Given the description of an element on the screen output the (x, y) to click on. 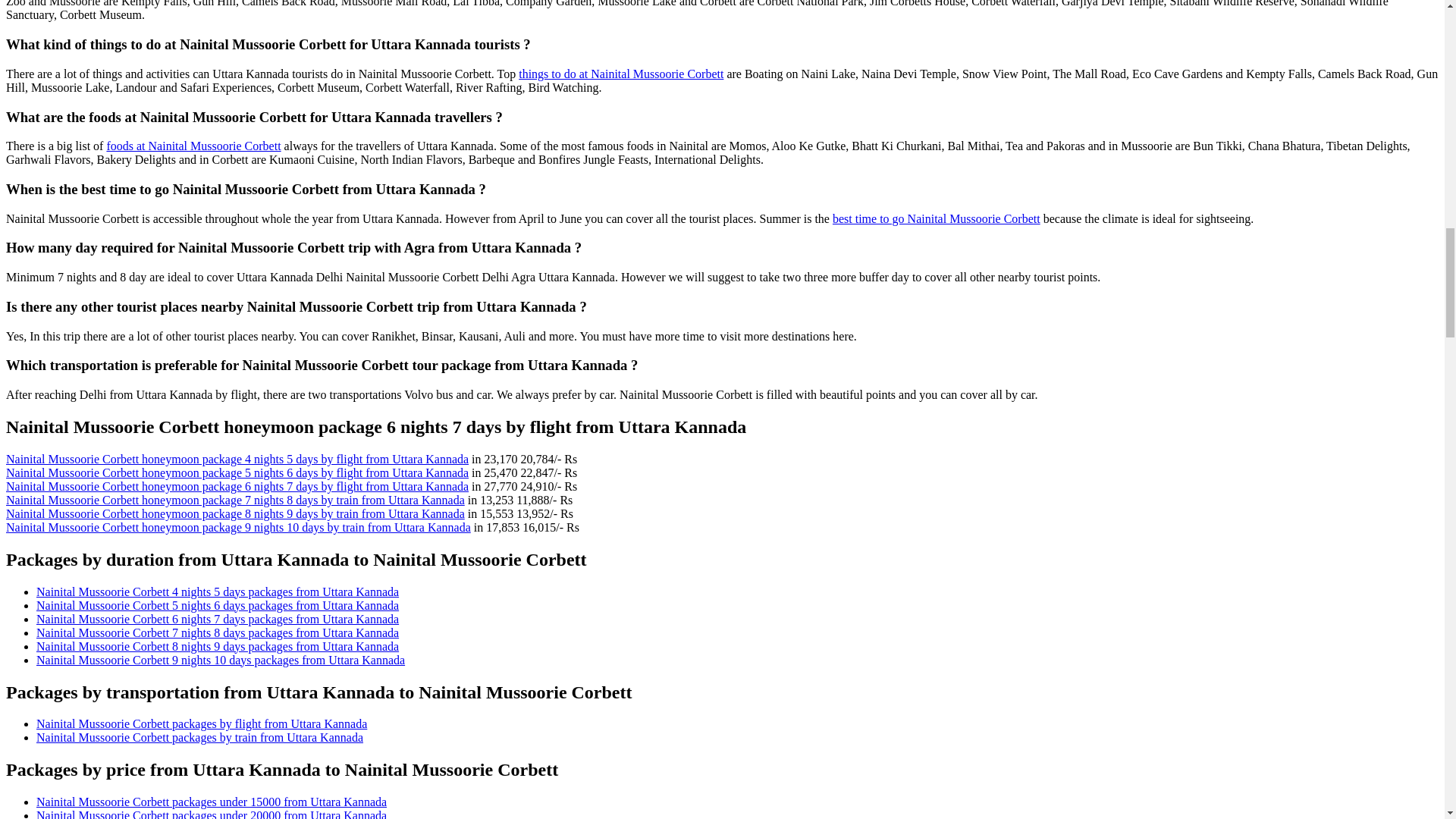
foods at Nainital Mussoorie Corbett (193, 145)
best time to go Nainital Mussoorie Corbett (936, 218)
